Given the description of an element on the screen output the (x, y) to click on. 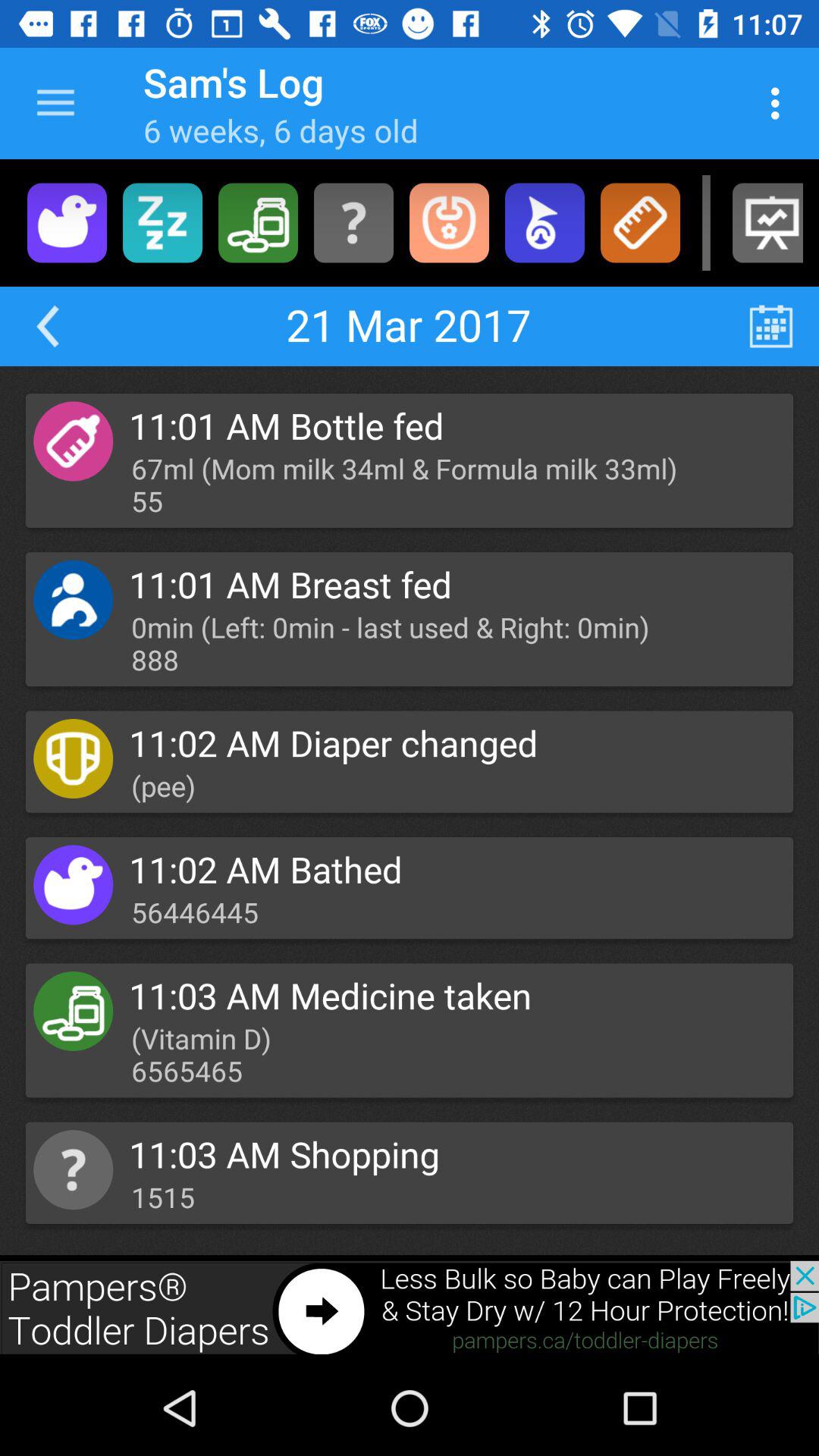
bath time option (66, 222)
